Given the description of an element on the screen output the (x, y) to click on. 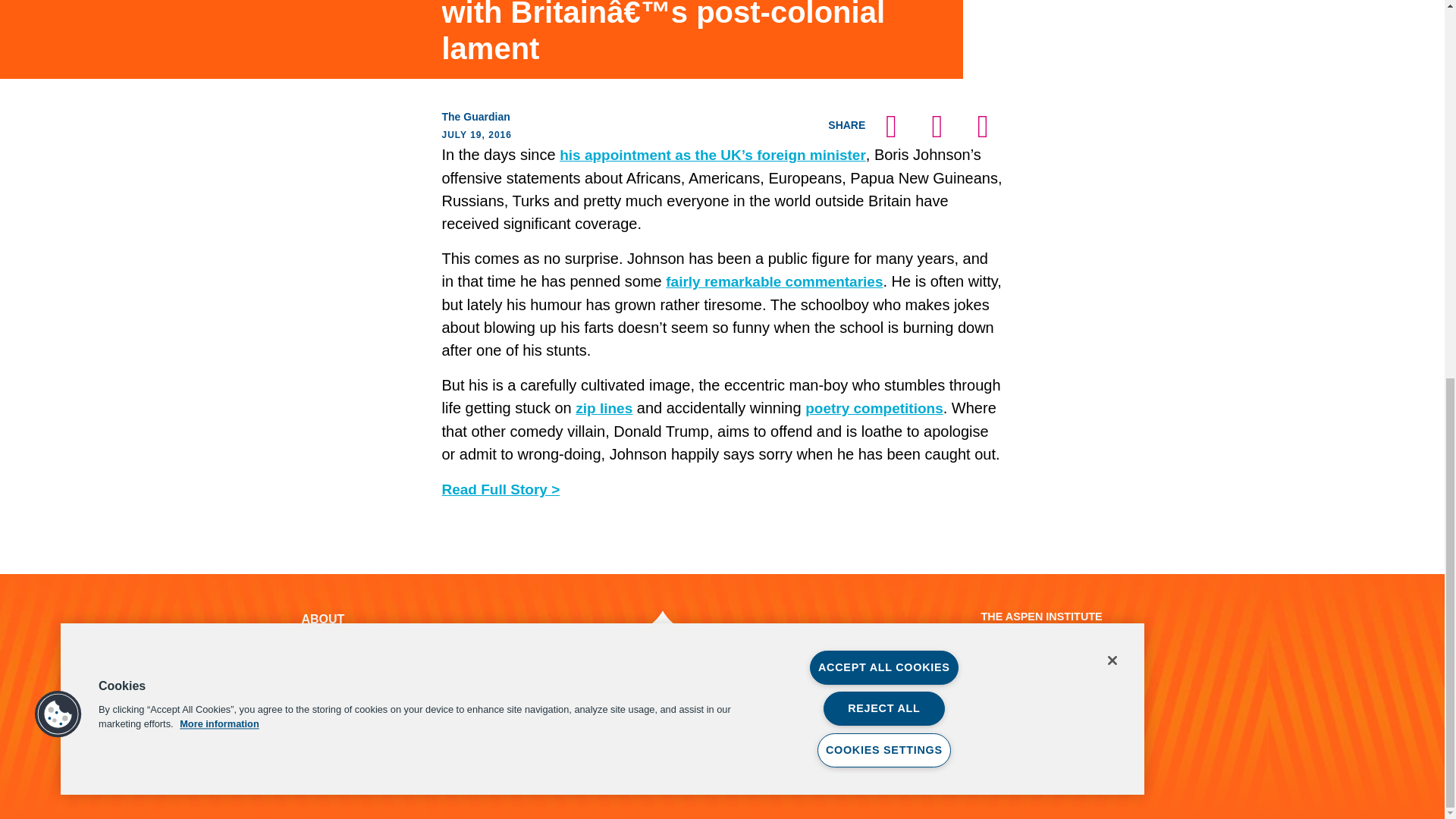
zip lines (603, 408)
Cookies Button (57, 19)
The Aspen Institute (686, 637)
ABOUT (323, 618)
IMPACT (324, 655)
FELLOWS (331, 636)
fairly remarkable commentaries (773, 281)
LINKEDIN (754, 710)
PUBLICATIONS (346, 691)
Privacy Policy (334, 757)
YOUTUBE (682, 710)
FAQ (313, 727)
NEWS (319, 673)
poetry competitions (874, 408)
FACEBOOK (537, 710)
